Given the description of an element on the screen output the (x, y) to click on. 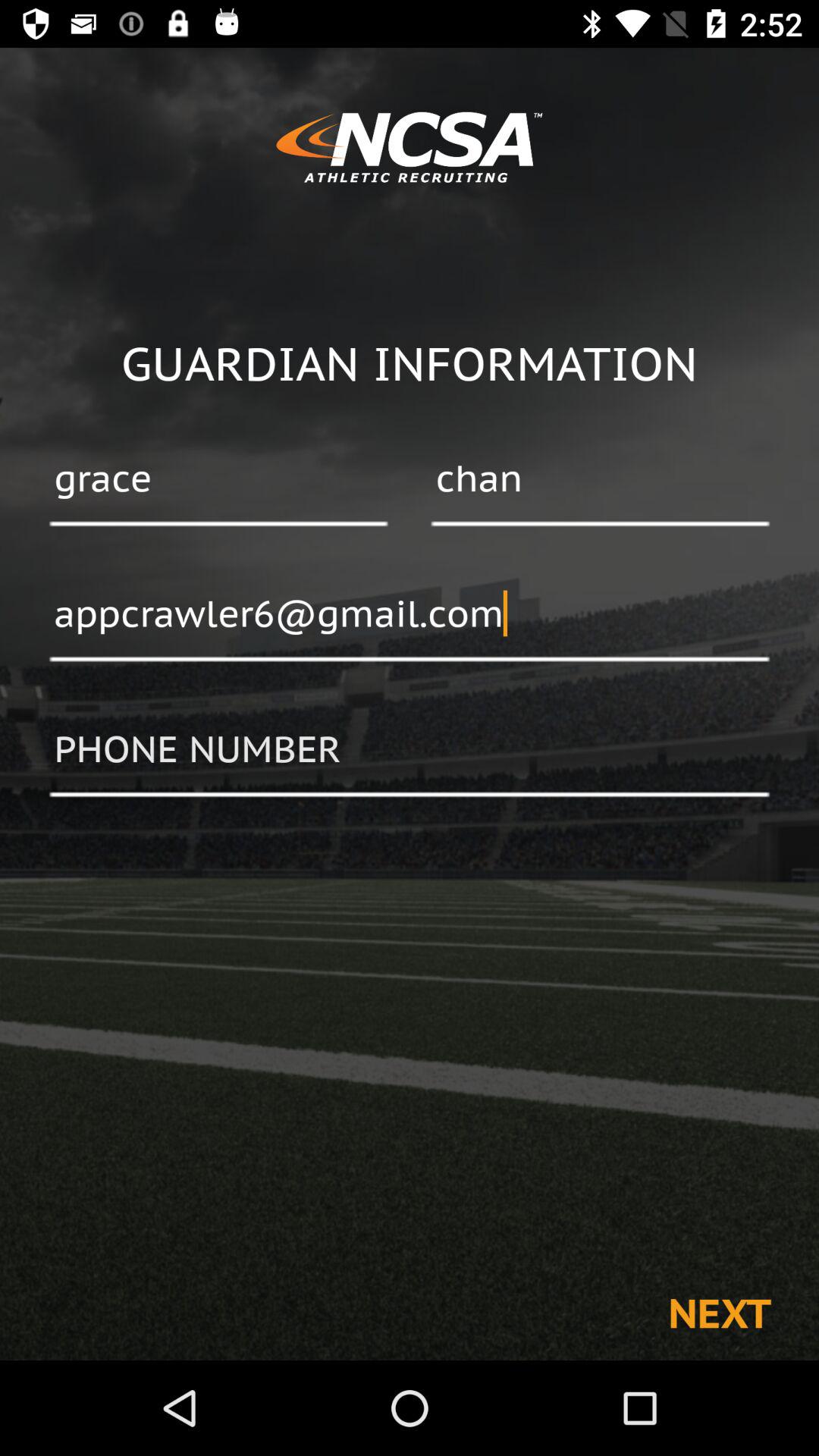
select grace at the top left corner (218, 479)
